Given the description of an element on the screen output the (x, y) to click on. 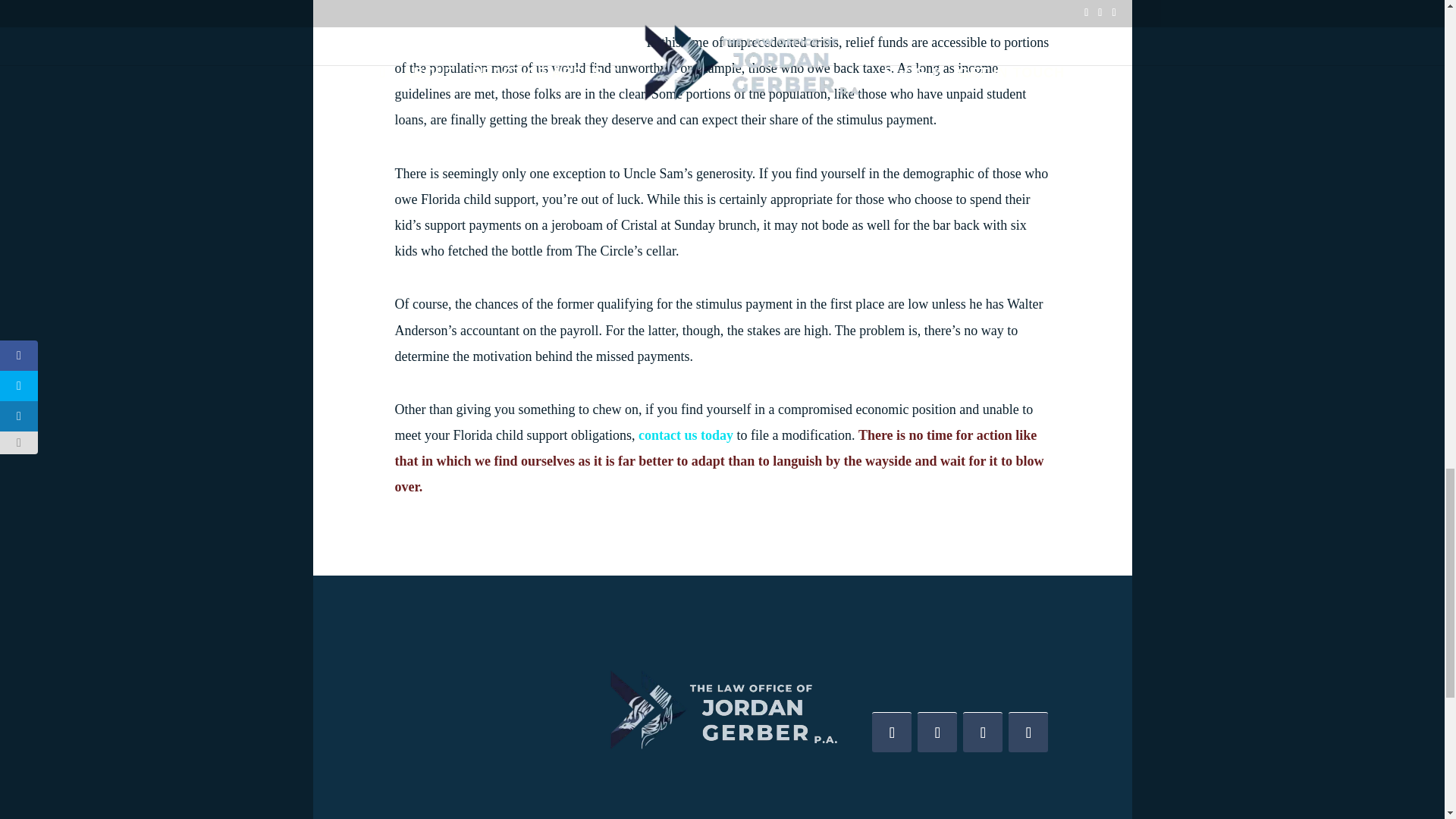
Follow on X (936, 731)
Follow on Facebook (891, 731)
Follow on Instagram (1028, 731)
Follow on LinkedIn (982, 731)
